Given the description of an element on the screen output the (x, y) to click on. 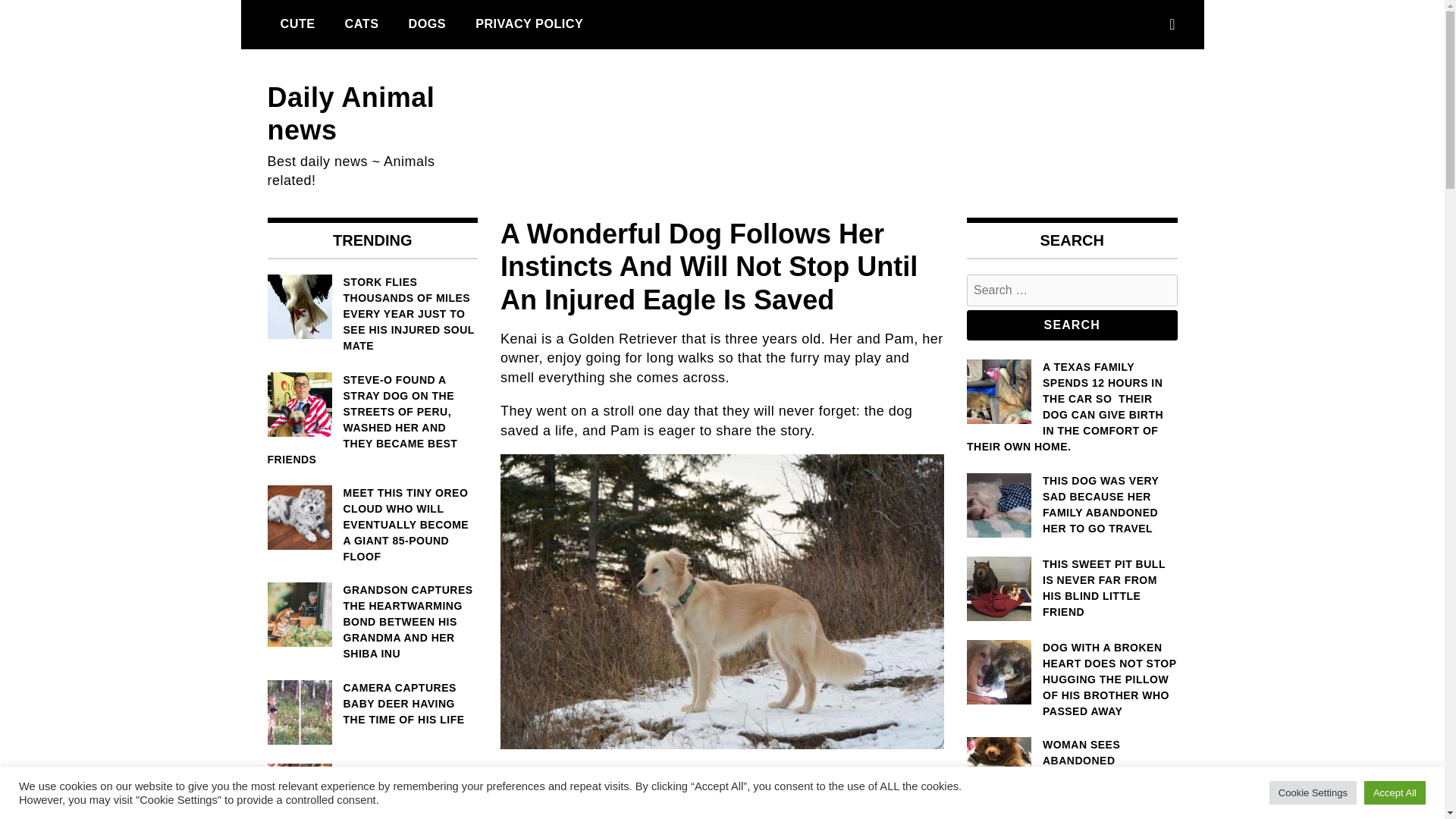
CATS (361, 23)
Search (1071, 325)
PRIVACY POLICY (529, 23)
DOGS (426, 23)
CAMERA CAPTURES BABY DEER HAVING THE TIME OF HIS LIFE (371, 704)
CUTE (296, 23)
Search (1071, 325)
Daily Animal news (349, 113)
